Given the description of an element on the screen output the (x, y) to click on. 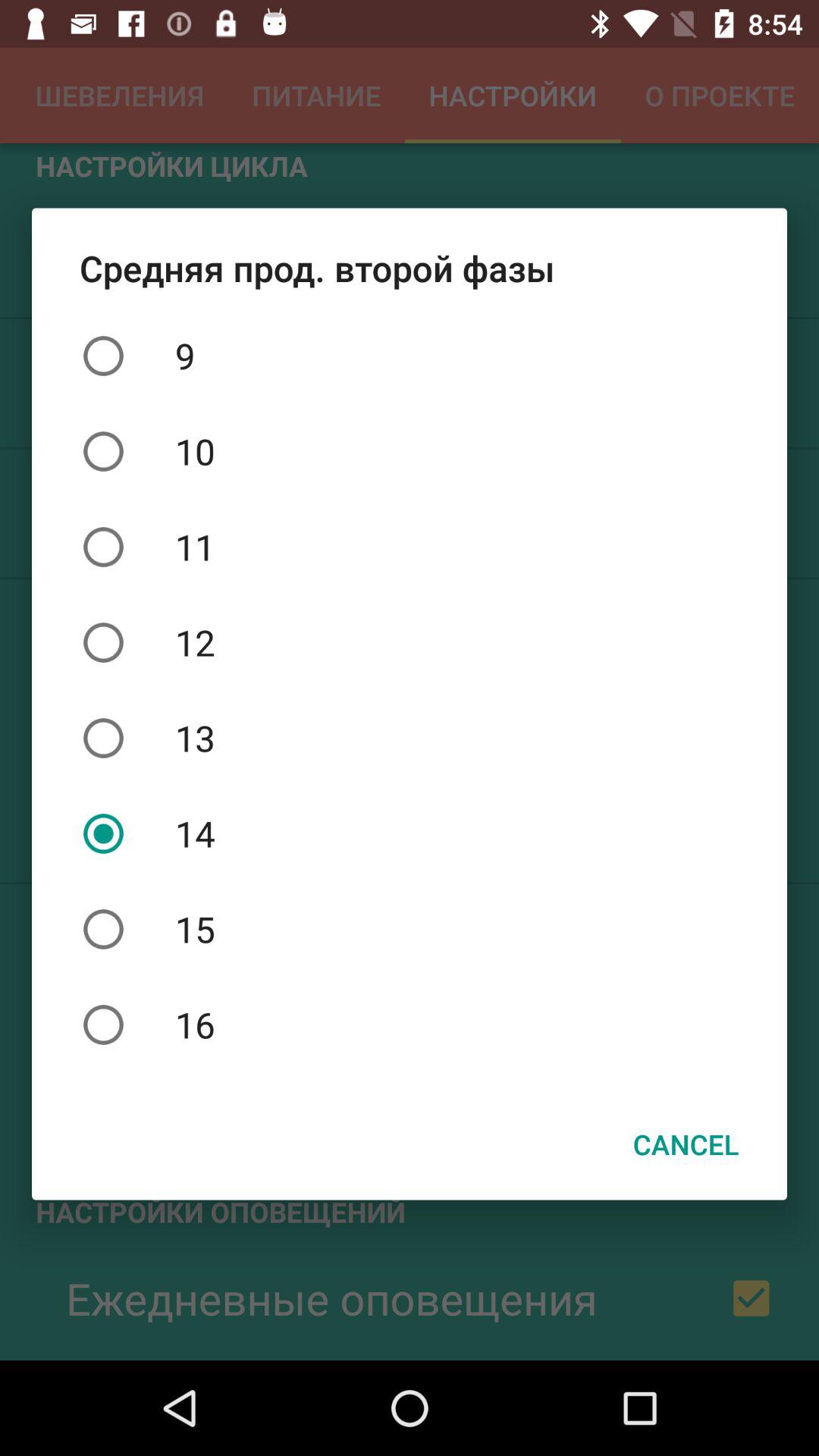
tap icon below the 11 (409, 642)
